Given the description of an element on the screen output the (x, y) to click on. 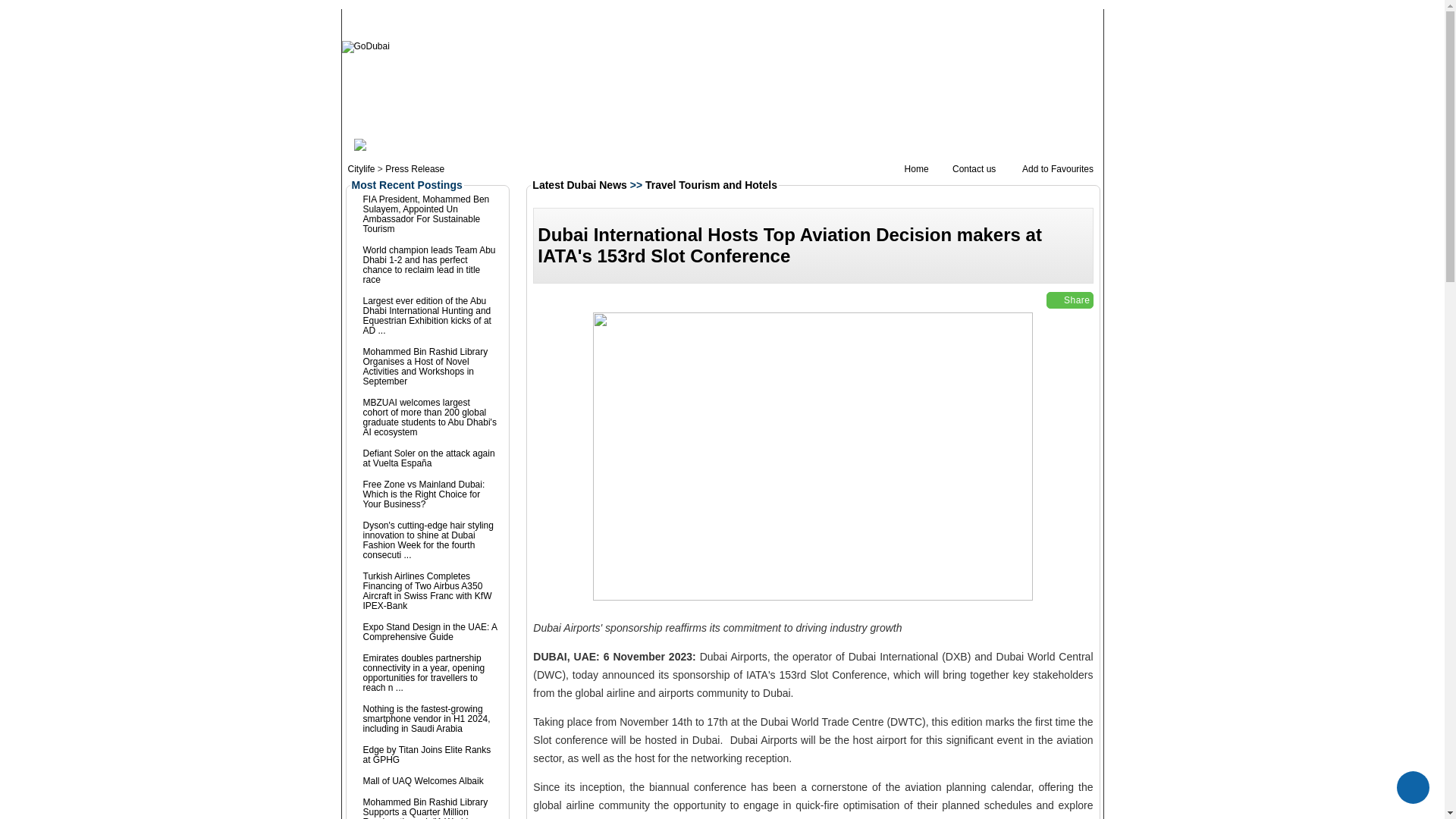
JOBS (746, 101)
BUSINESS (898, 101)
 Interviews  (682, 144)
TOURIST INFO (386, 101)
 PR by Industry  (856, 144)
Citylife (360, 168)
CITYLIFE (448, 101)
EDUCATION (837, 101)
  News and Press Release  (413, 146)
DINING (550, 101)
